Given the description of an element on the screen output the (x, y) to click on. 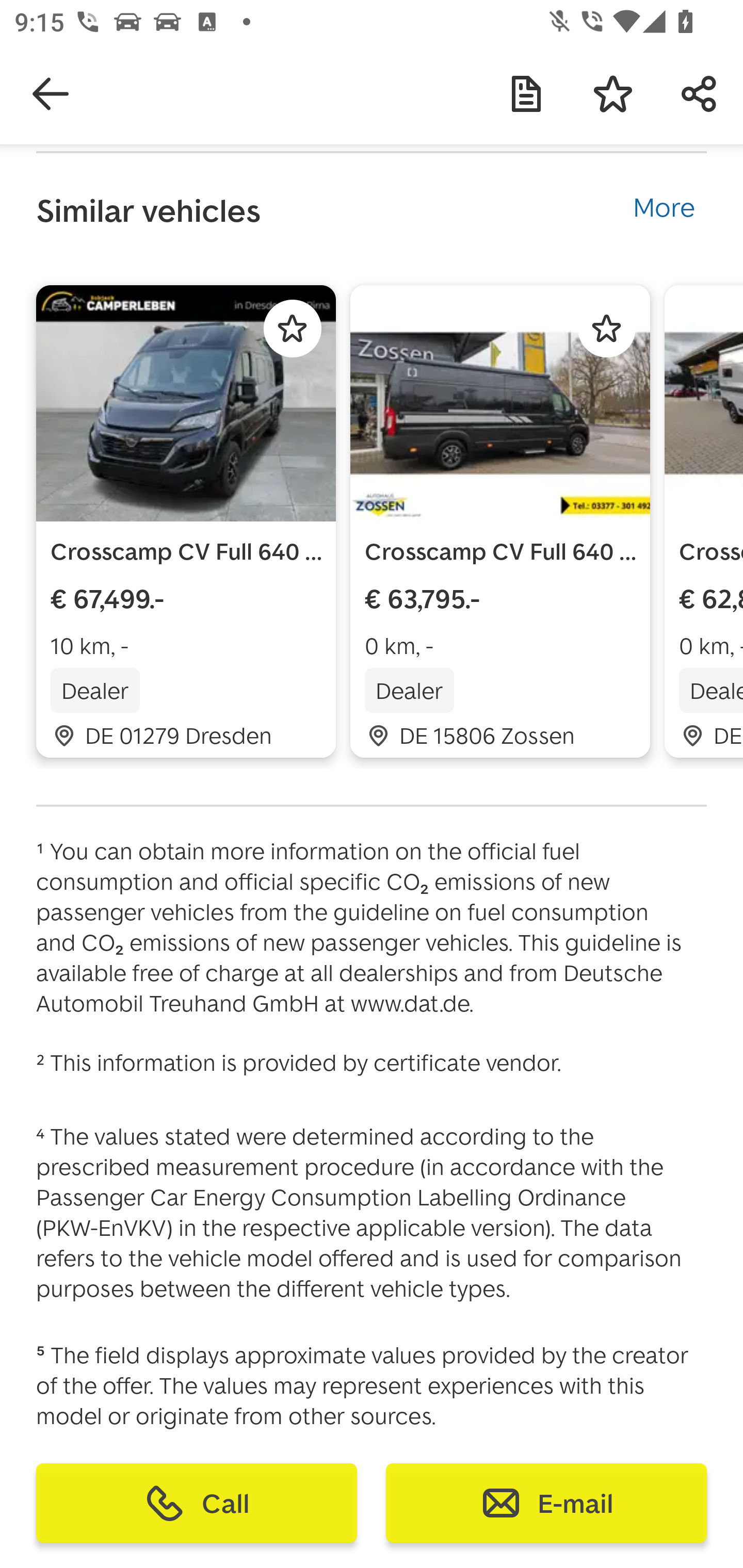
Navigate up (50, 93)
My Notes (525, 93)
Save (612, 93)
Forward (699, 93)
More (663, 203)
Call (196, 1502)
E-mail (545, 1502)
